Given the description of an element on the screen output the (x, y) to click on. 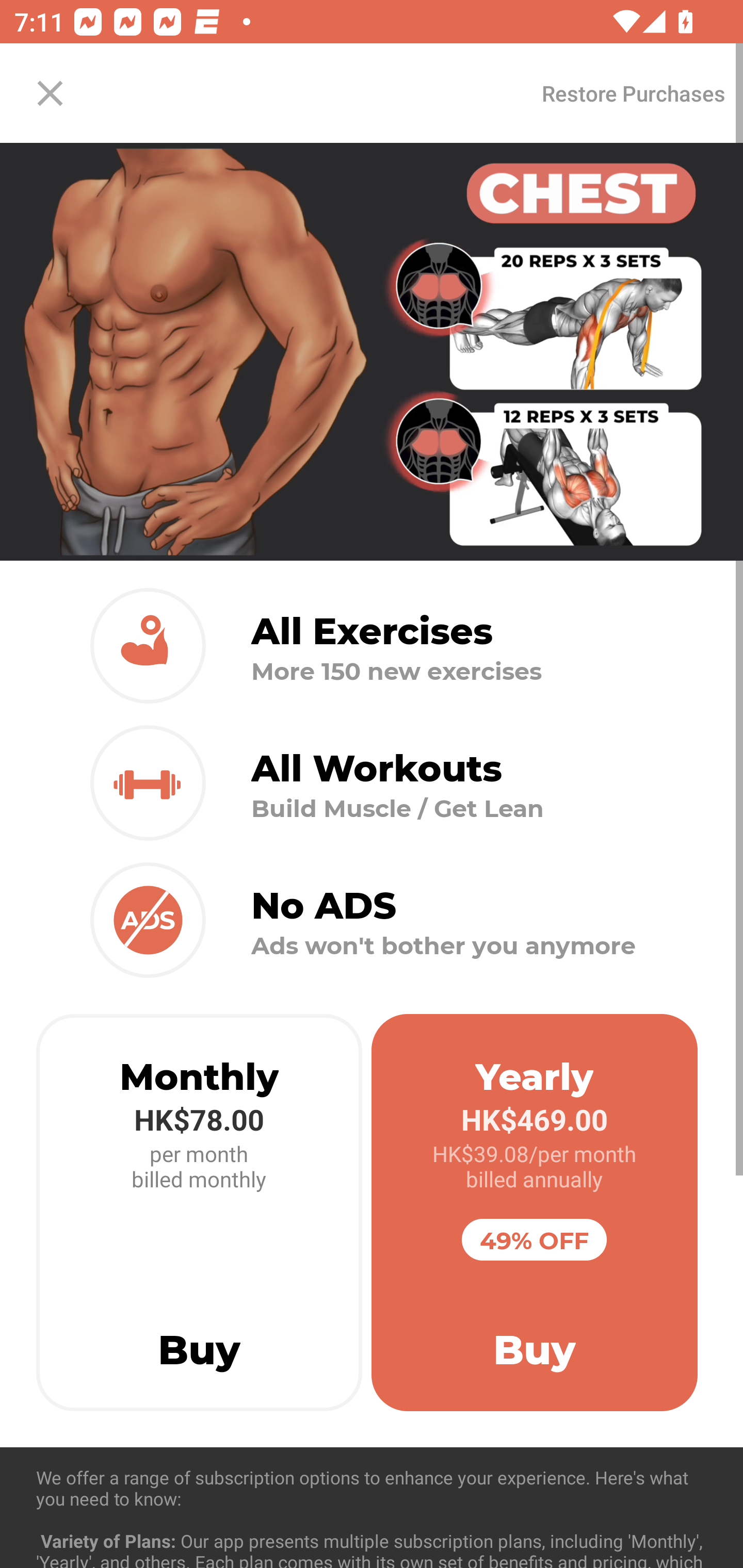
Restore Purchases (632, 92)
Monthly HK$78.00 per month
billed monthly Buy (199, 1212)
